Given the description of an element on the screen output the (x, y) to click on. 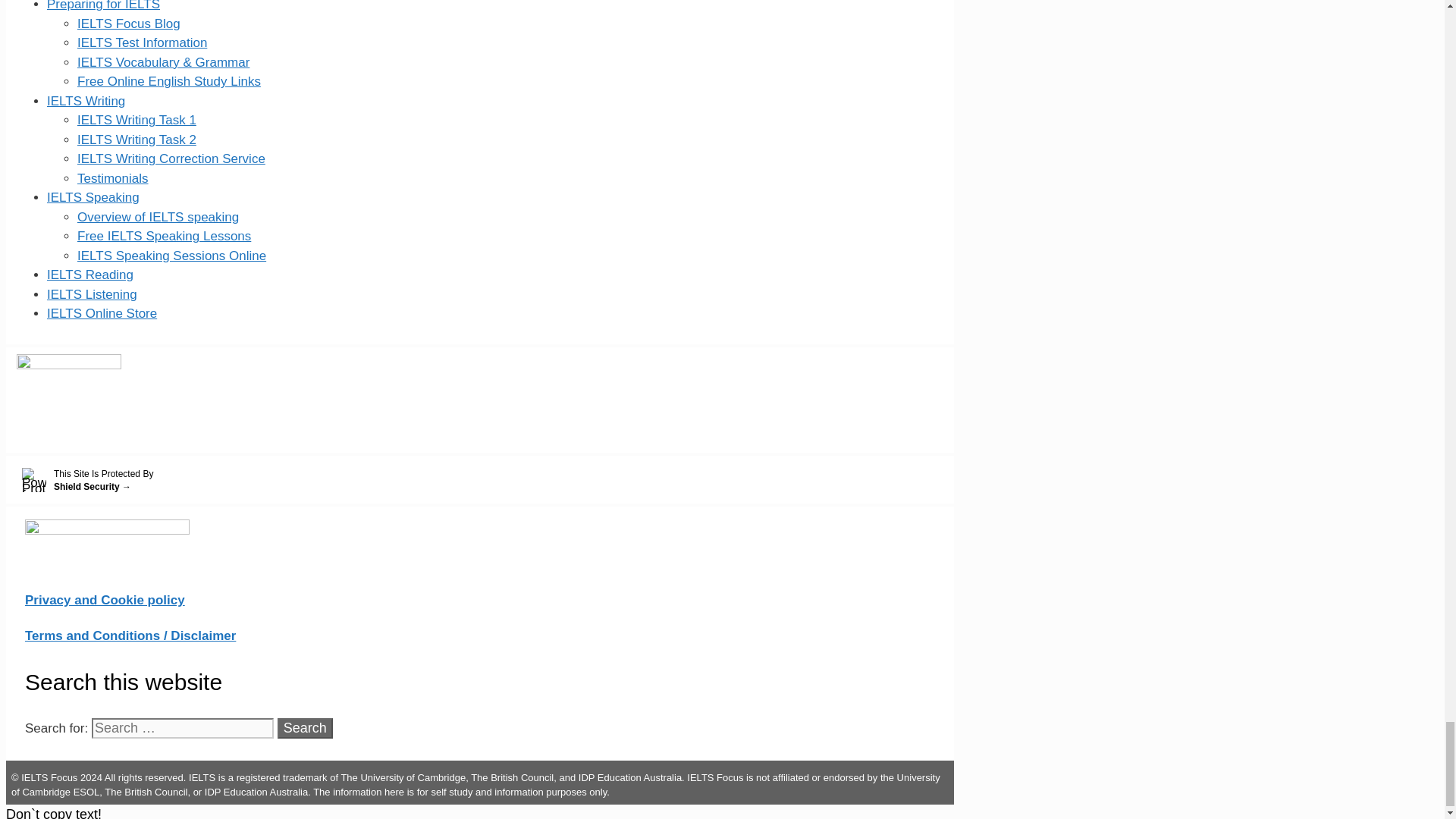
Search (305, 728)
Search (305, 728)
Search for: (182, 728)
Shield Security (481, 480)
